Given the description of an element on the screen output the (x, y) to click on. 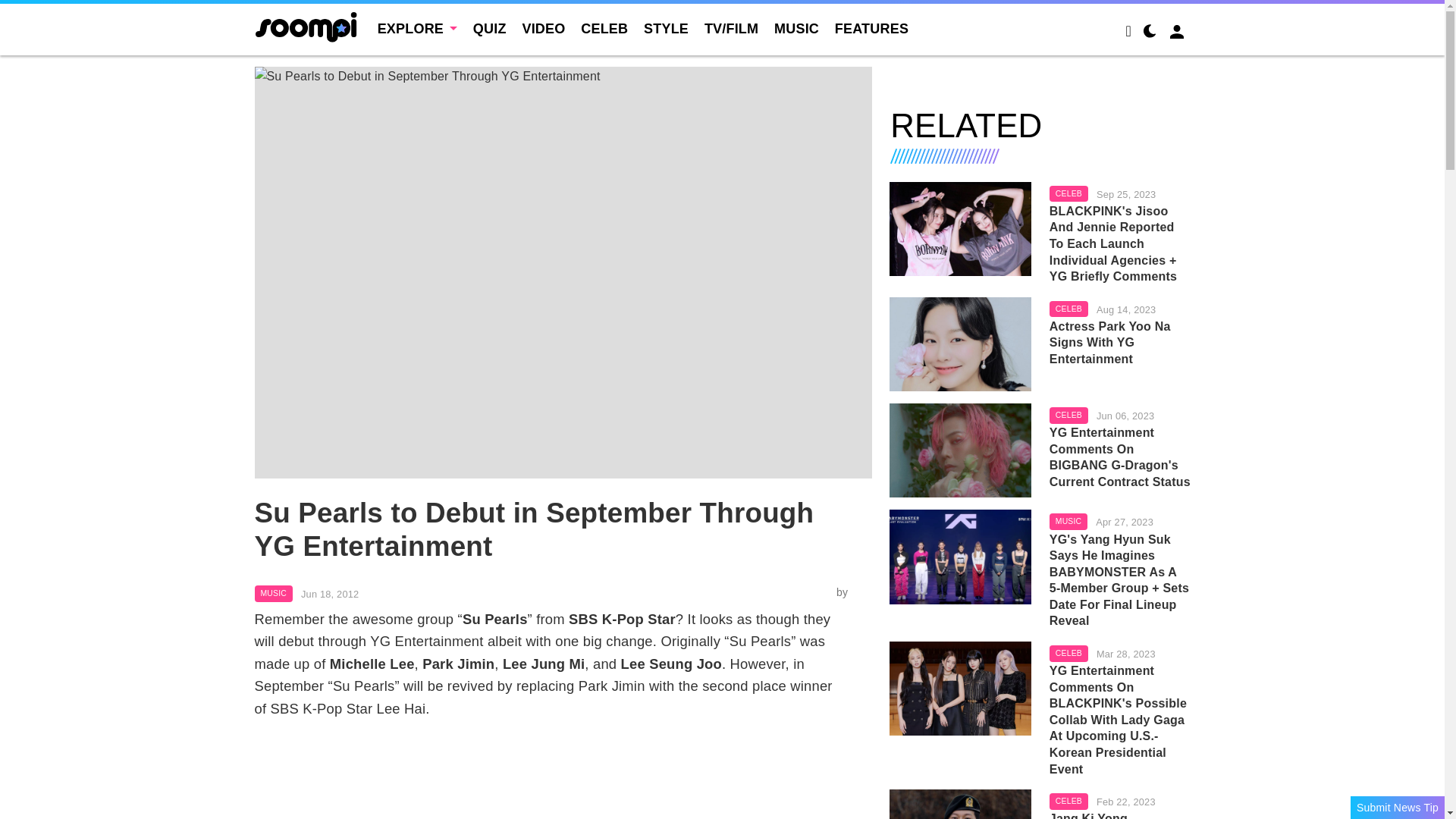
FEATURES (871, 28)
MUSIC (796, 28)
MUSIC (273, 593)
VIDEO (542, 28)
STYLE (665, 28)
Music (273, 593)
QUIZ (489, 28)
EXPLORE (417, 28)
Celeb (1068, 193)
CELEB (603, 28)
Night Mode Toggle (1149, 33)
